Given the description of an element on the screen output the (x, y) to click on. 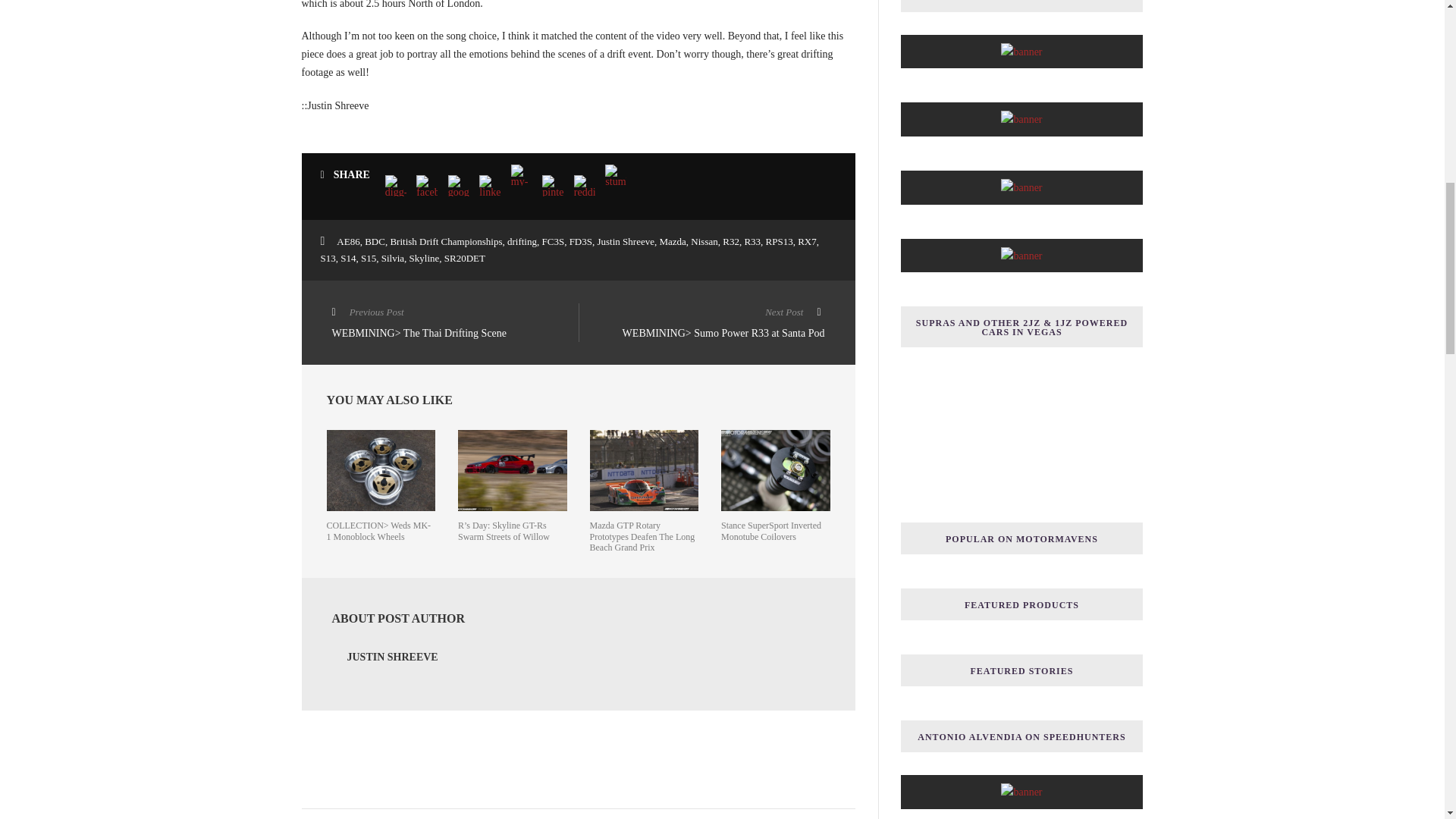
BDC (375, 241)
British Drift Championships (446, 241)
FC3S (552, 241)
Posts by Justin Shreeve (392, 656)
drifting (521, 241)
AE86 (347, 241)
FD3S (580, 241)
